Given the description of an element on the screen output the (x, y) to click on. 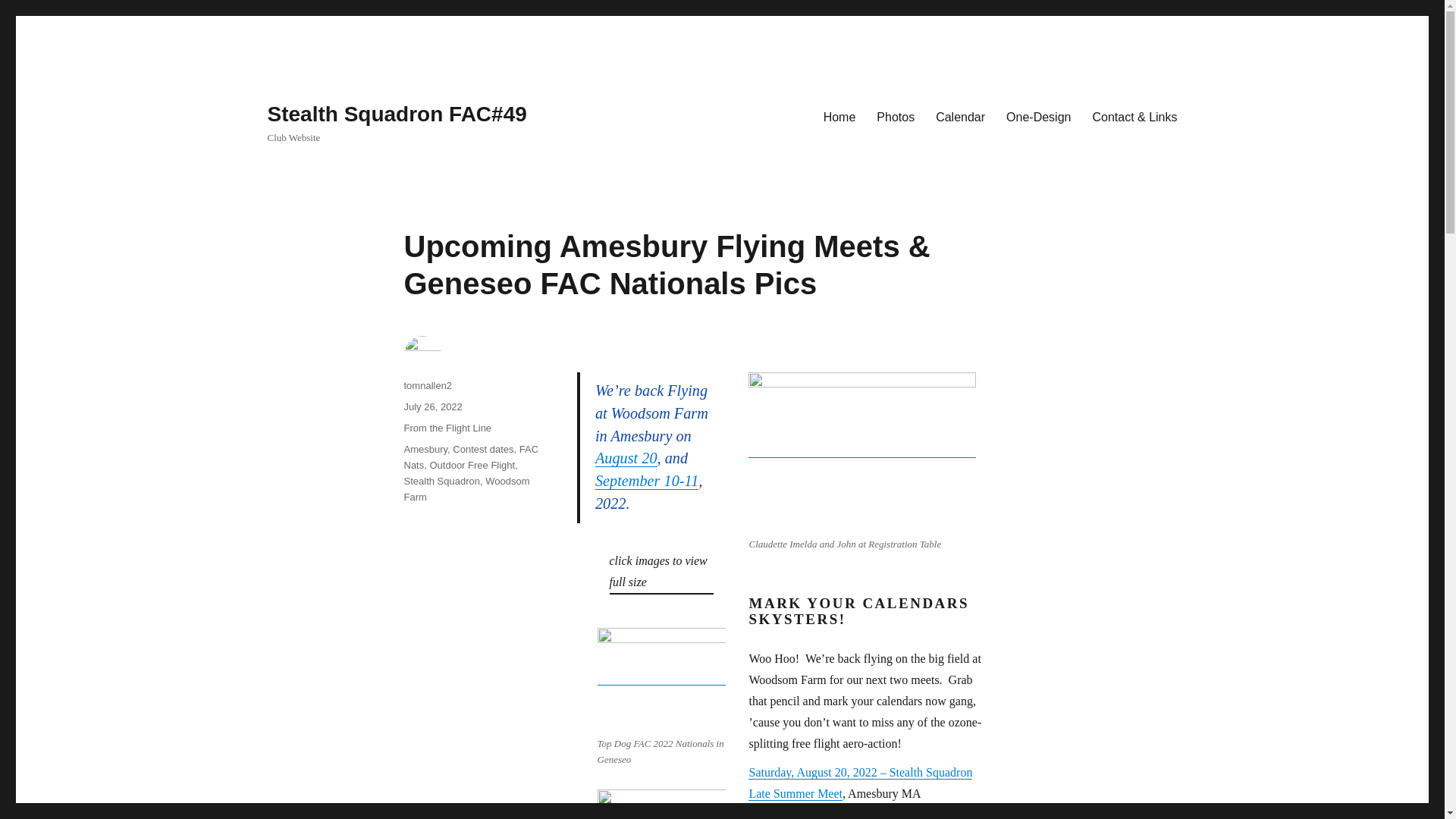
FAC Nats (470, 456)
Contest dates (482, 449)
Outdoor Free Flight (472, 464)
tomnallen2 (427, 385)
Photos (895, 116)
September 10-11 (646, 480)
Calendar (959, 116)
One-Design (1038, 116)
July 26, 2022 (432, 406)
From the Flight Line (447, 428)
August 20 (626, 457)
Stealth Squadron (441, 480)
Woodsom Farm (466, 488)
Home (839, 116)
Amesbury (424, 449)
